Given the description of an element on the screen output the (x, y) to click on. 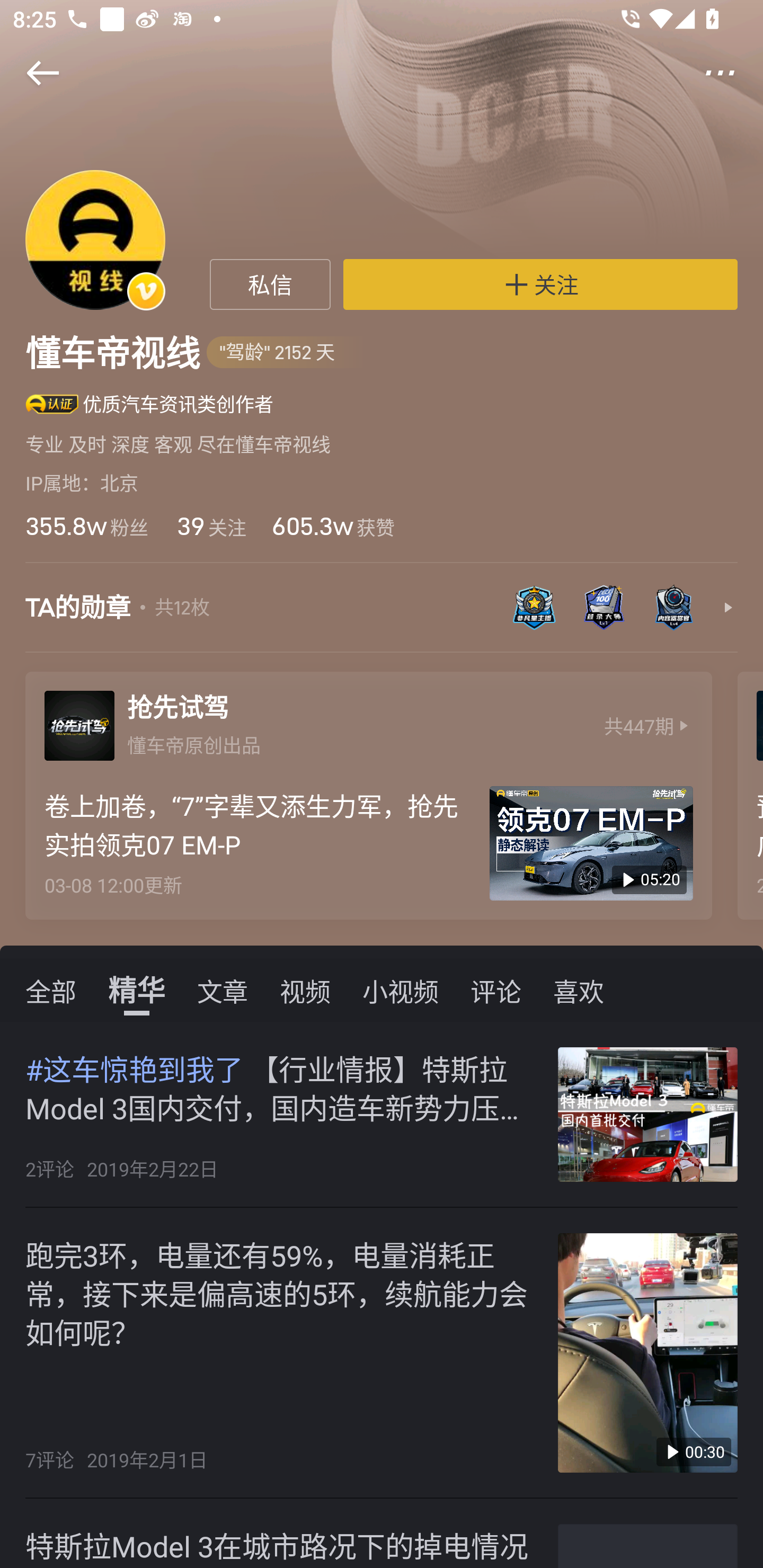
 (30, 72)
 (732, 72)
私信 (269, 284)
 关注 (540, 284)
"驾龄" 2152 天 (286, 352)
355.8w 粉丝 (86, 526)
39 关注 (209, 526)
605.3w 获赞 (332, 526)
TA的勋章 共12枚  (381, 616)
抢先试驾 懂车帝原创出品 共447期  (368, 722)
全部 (50, 990)
精华 (136, 990)
文章 (221, 990)
视频 (305, 990)
小视频 (400, 990)
评论 (495, 990)
喜欢 (578, 990)
跑完3环，电量还有59%，电量消耗正常，接下来是偏高速的5环，续航能力会如何呢？ (281, 1291)
特斯拉Model 3在城市路况下的掉电情况还算乐观，稍后我们在高速上继续测试 (281, 1546)
